Given the description of an element on the screen output the (x, y) to click on. 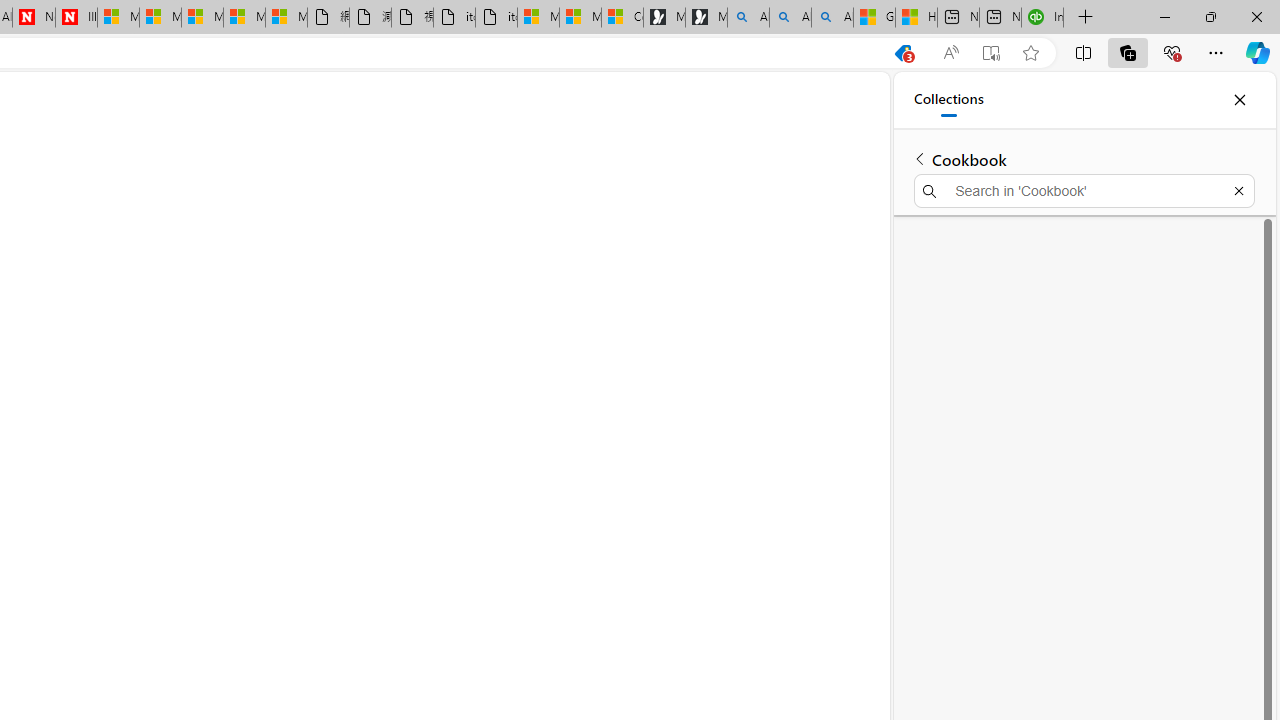
Consumer Health Data Privacy Policy (621, 17)
Elon Musk's xAI releases Grok-2 AI assistant (676, 305)
Illness news & latest pictures from Newsweek.com (76, 17)
How to Get a Free SSL Certificate (697, 242)
Best SSL Certificates Provider in India (687, 269)
How to Get a Free SSL Certificate (674, 242)
